Given the description of an element on the screen output the (x, y) to click on. 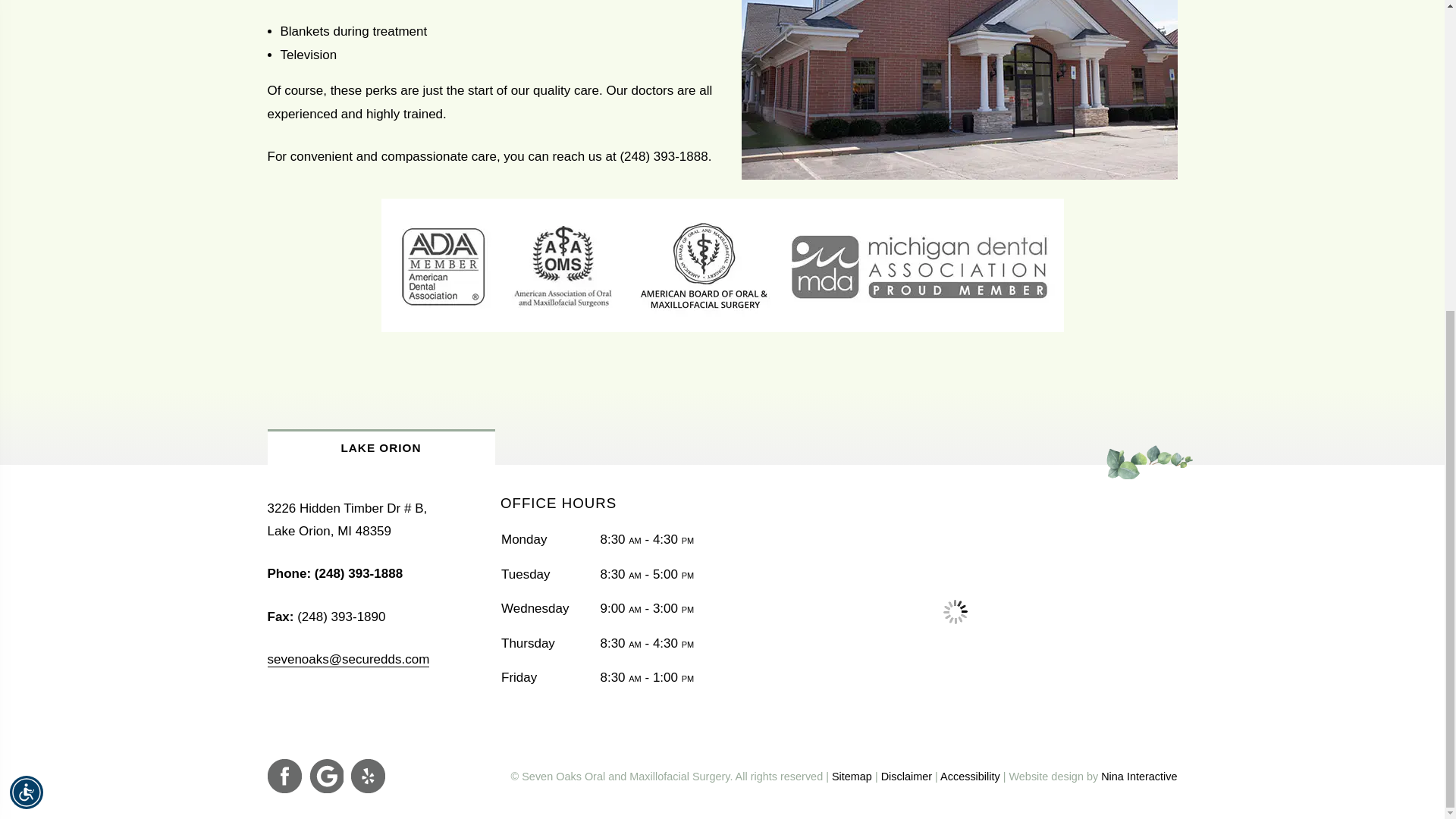
Follow us on Yelp (367, 776)
Follow us on Facebook (283, 776)
Accessibility Menu (26, 297)
Follow us on Google (325, 776)
